Given the description of an element on the screen output the (x, y) to click on. 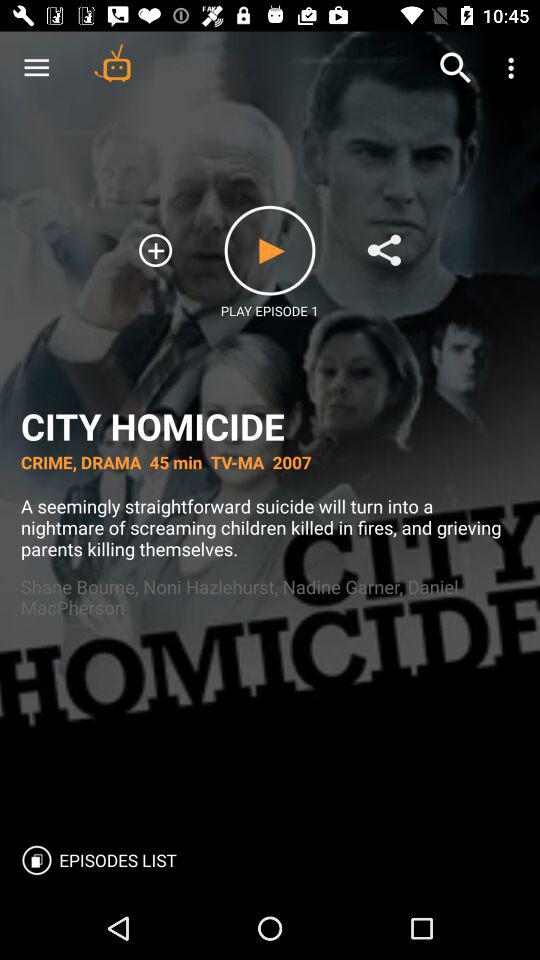
select icon above the city homicide item (455, 67)
